Given the description of an element on the screen output the (x, y) to click on. 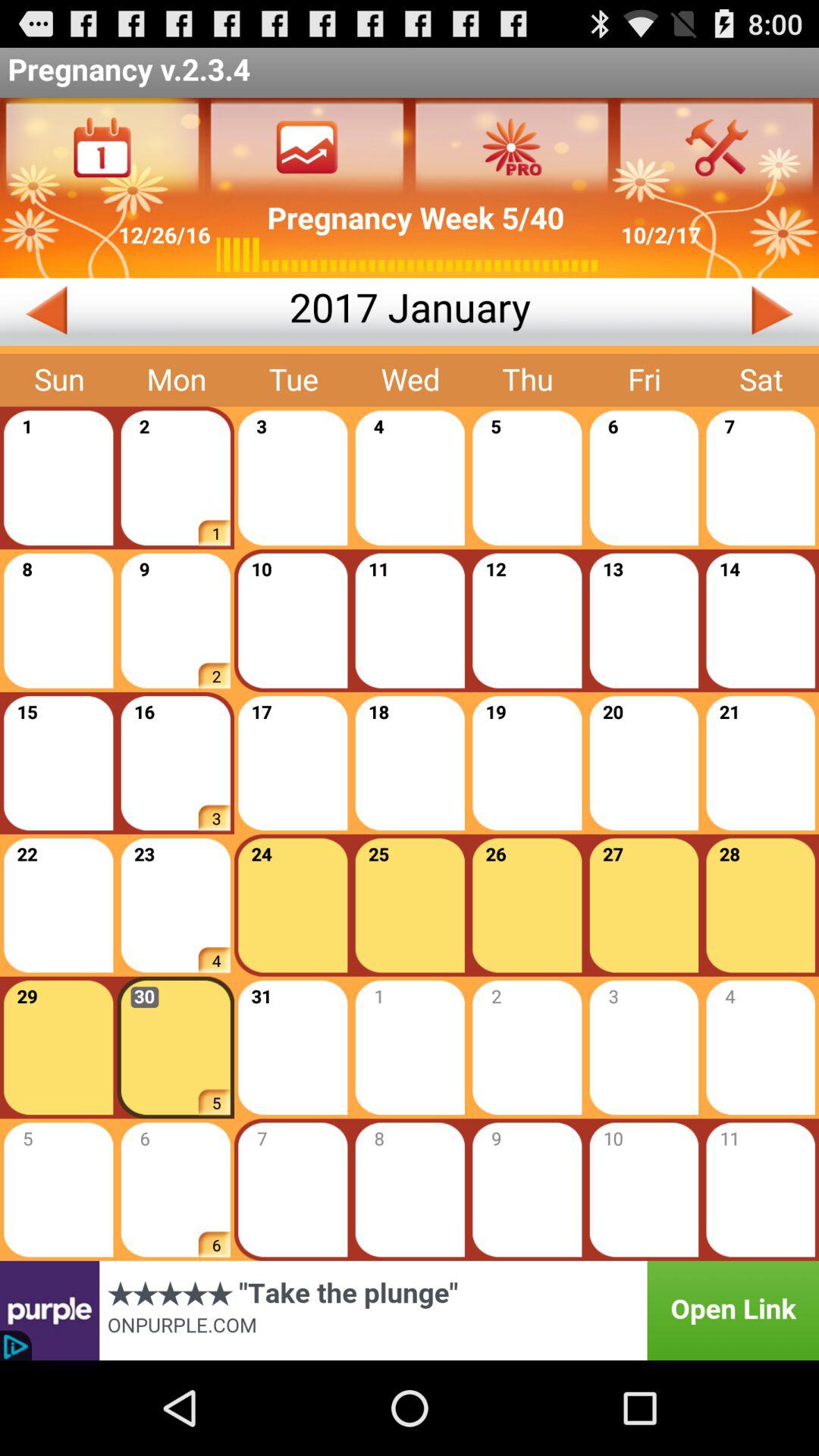
go to december 2016 (144, 311)
